Given the description of an element on the screen output the (x, y) to click on. 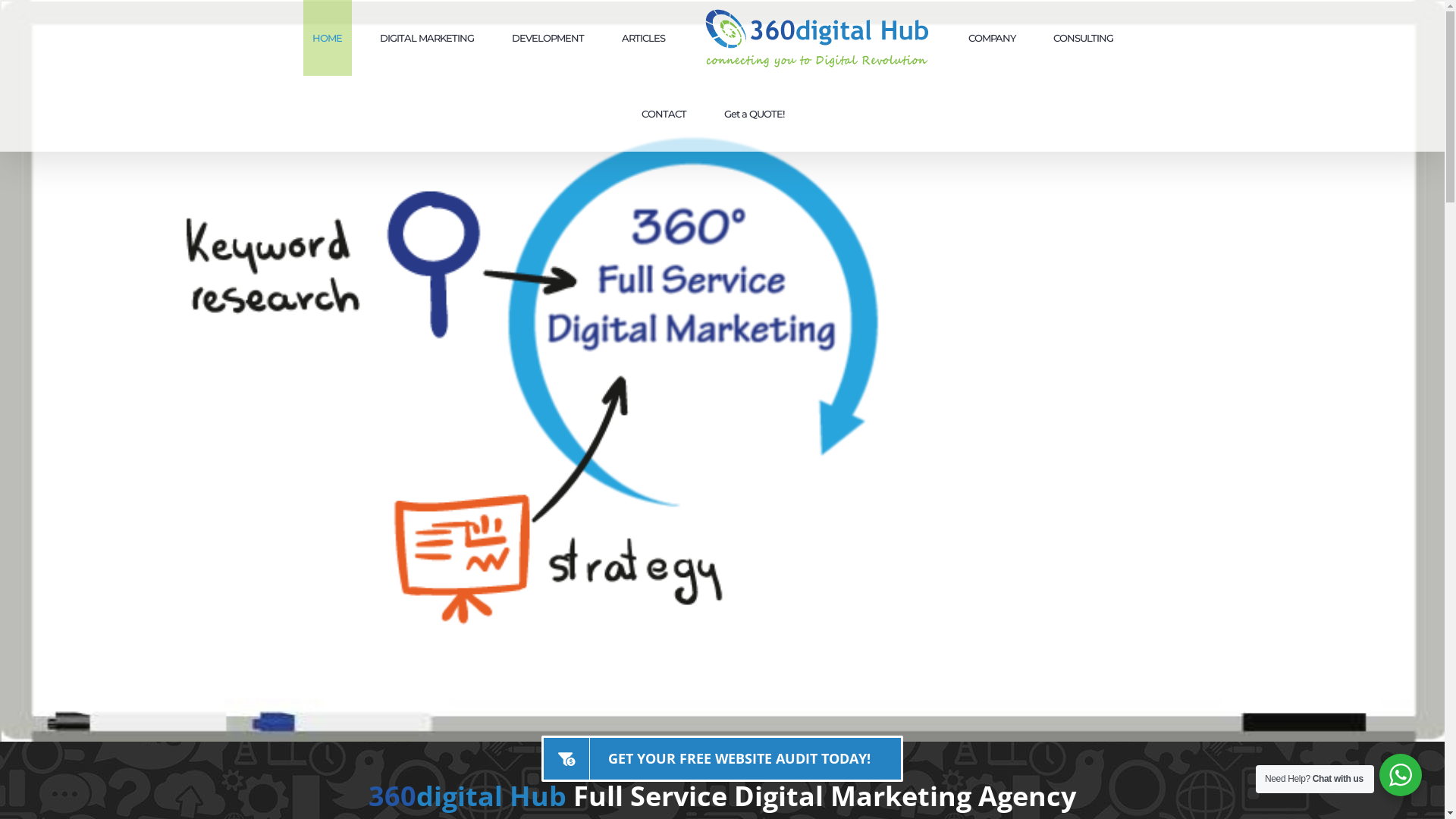
COMPANY Element type: text (991, 37)
GET YOUR FREE WEBSITE AUDIT TODAY! Element type: text (722, 758)
HOME Element type: text (327, 37)
ARTICLES Element type: text (643, 37)
DEVELOPMENT Element type: text (547, 37)
DIGITAL MARKETING Element type: text (426, 37)
Get a QUOTE! Element type: text (753, 113)
CONTACT Element type: text (664, 113)
CONSULTING Element type: text (1082, 37)
